Given the description of an element on the screen output the (x, y) to click on. 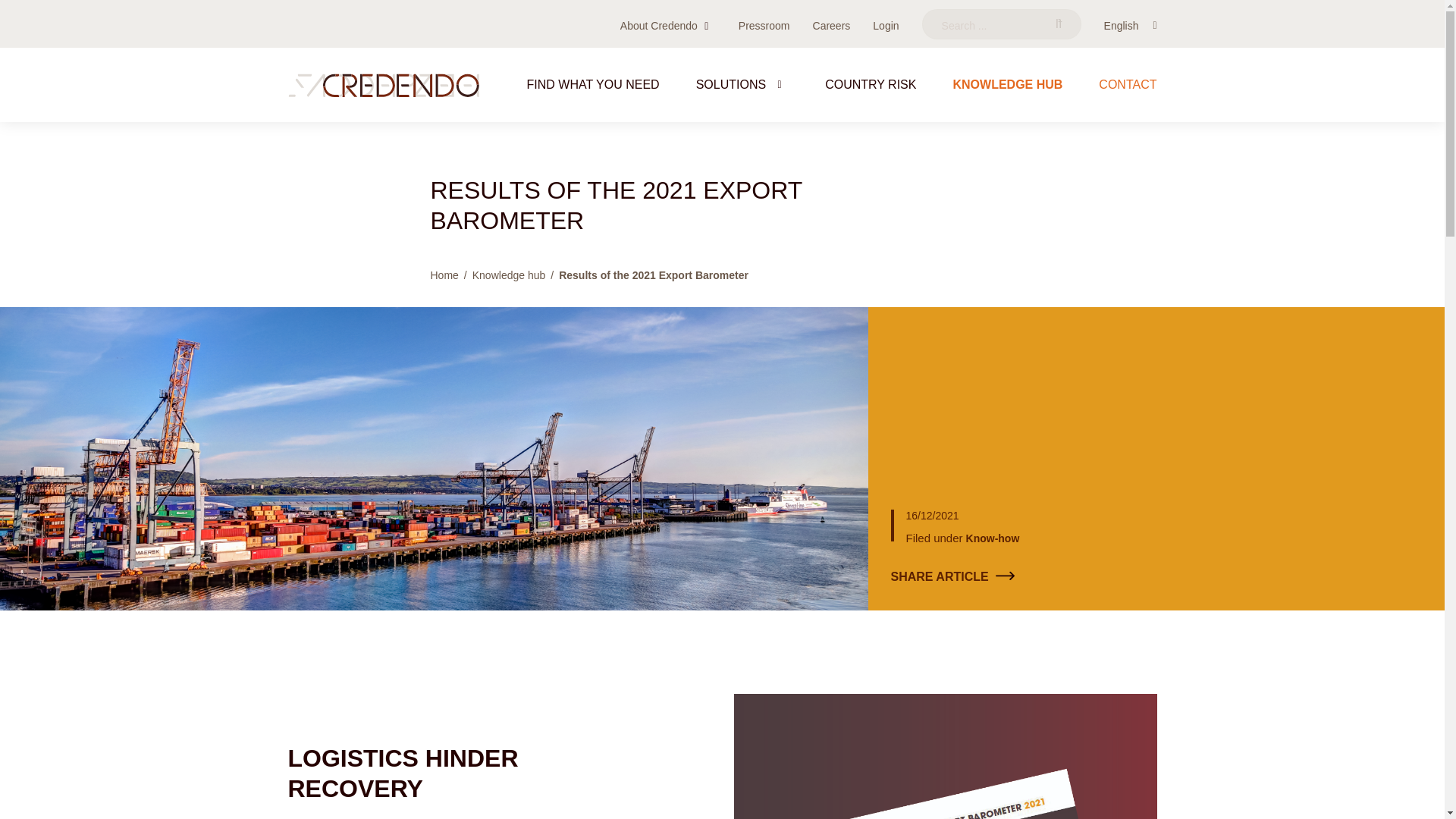
Home (384, 85)
KNOWLEDGE HUB (1007, 94)
Pressroom (764, 25)
CONTACT (1127, 94)
Careers (831, 25)
Know-how (993, 538)
COUNTRY RISK (870, 94)
SEARCH (1058, 24)
Login (885, 25)
About Credendo (658, 25)
FIND WHAT YOU NEED (593, 94)
Knowledge hub (508, 275)
Home (444, 275)
SOLUTIONS (742, 94)
